Given the description of an element on the screen output the (x, y) to click on. 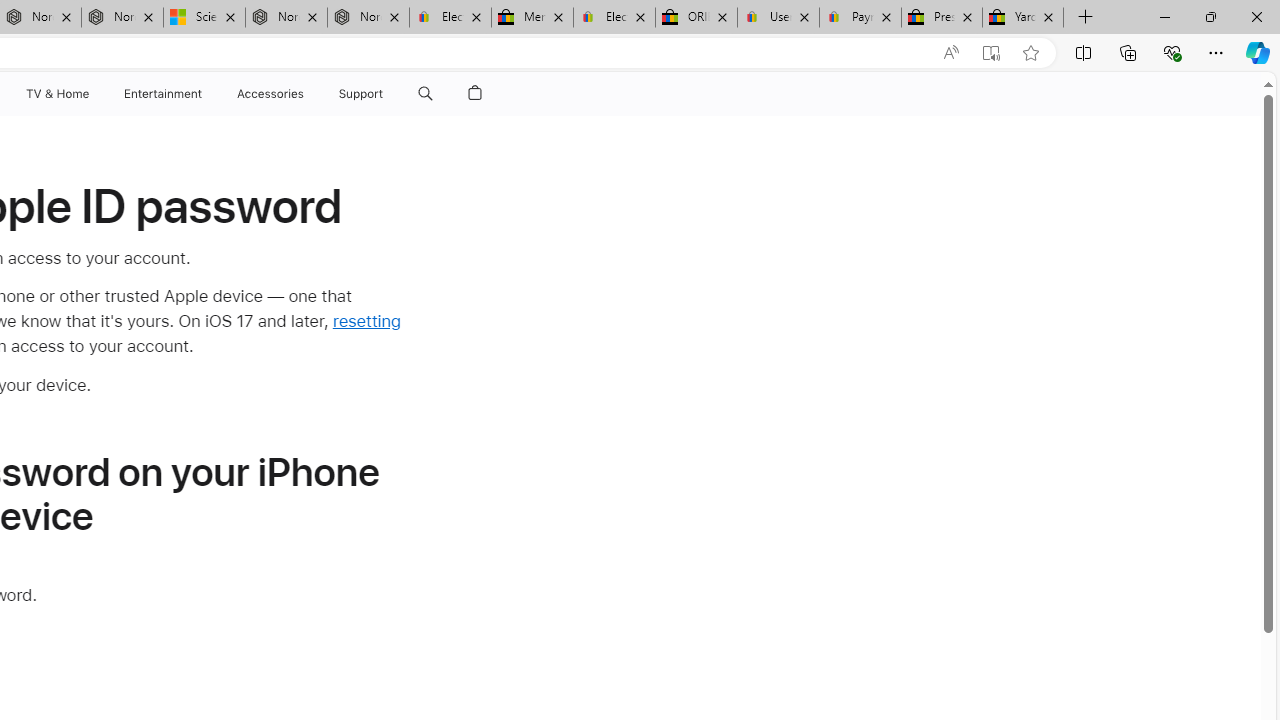
AutomationID: globalnav-bag (475, 93)
Nordace - FAQ (368, 17)
Support (361, 93)
Support menu (387, 93)
TV & Home (56, 93)
Shopping Bag (475, 93)
Search Support (425, 93)
